Given the description of an element on the screen output the (x, y) to click on. 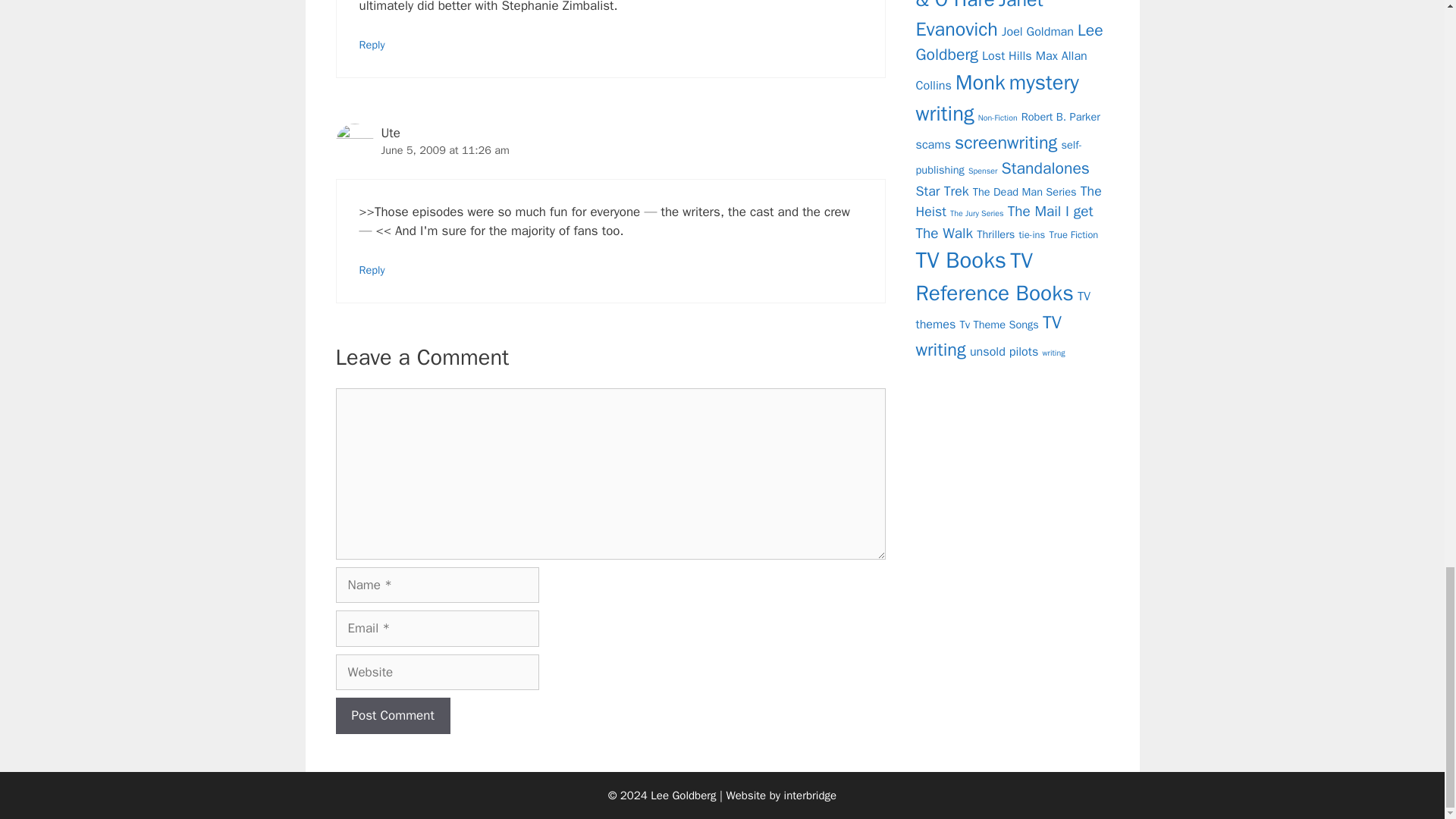
Post Comment (391, 715)
